Given the description of an element on the screen output the (x, y) to click on. 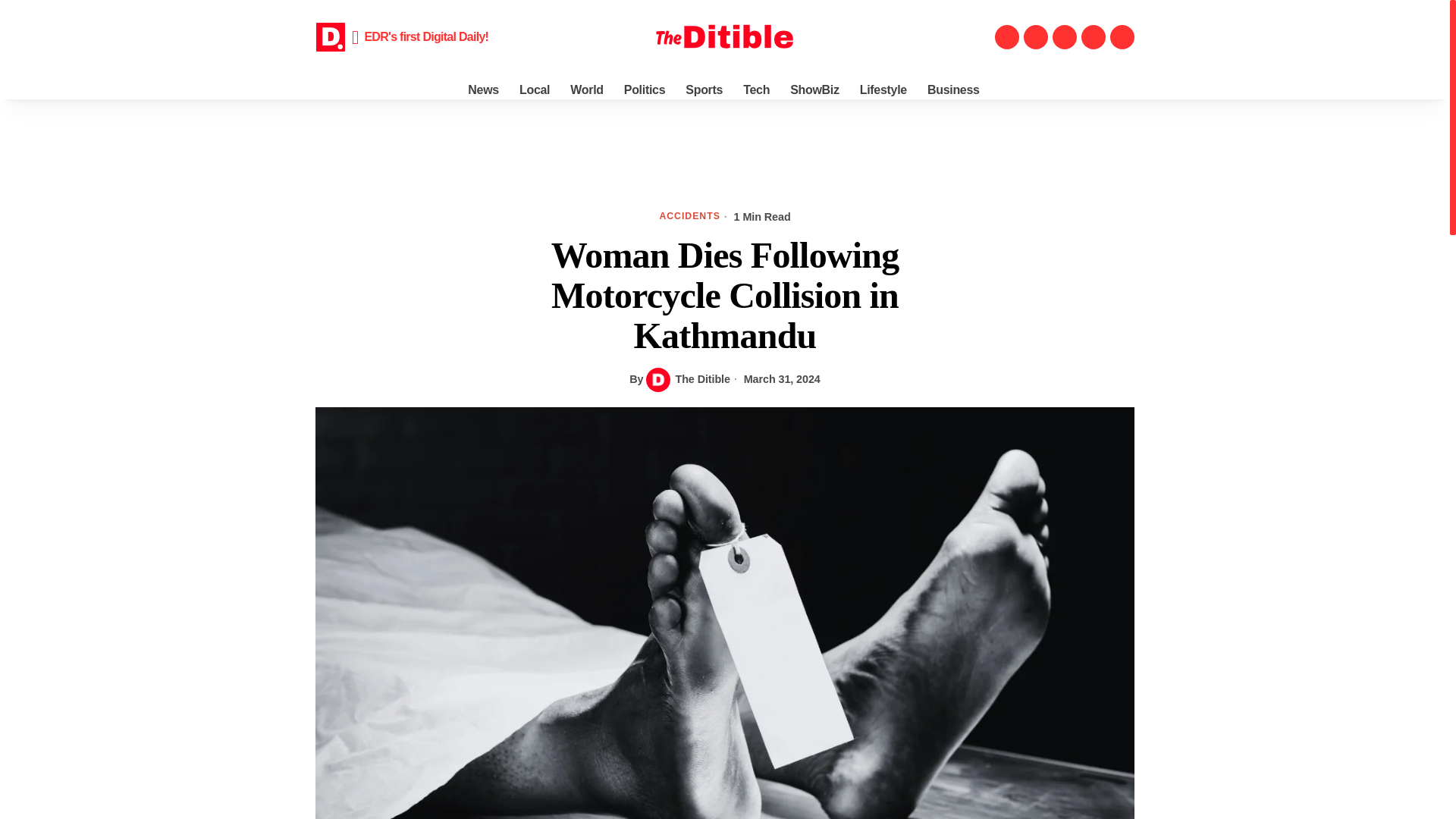
Business (954, 90)
31 Mar, 2024 08:30:13 (775, 378)
Tech (756, 90)
The Ditible (687, 379)
News (484, 90)
Sports (705, 90)
ACCIDENTS (689, 216)
Local (535, 90)
Advertisement (724, 148)
Lifestyle (884, 90)
Politics (645, 90)
World (587, 90)
ShowBiz (815, 90)
